Given the description of an element on the screen output the (x, y) to click on. 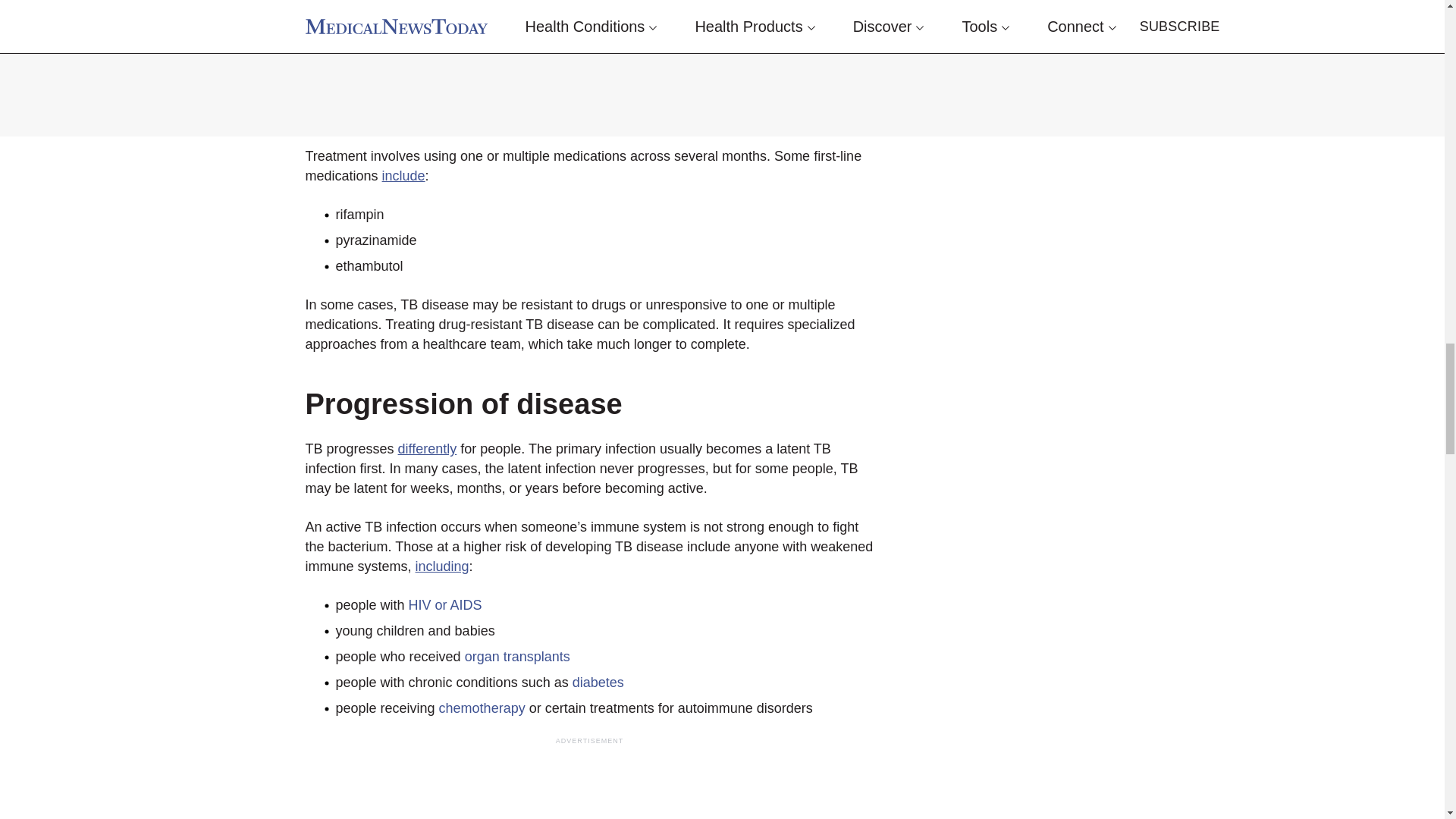
bone pain (364, 117)
differently (427, 448)
organ transplants (517, 656)
HIV or AIDS (445, 604)
blood (490, 91)
chills (349, 65)
Progression of disease (462, 404)
include (403, 175)
including (441, 566)
fever (349, 39)
